Given the description of an element on the screen output the (x, y) to click on. 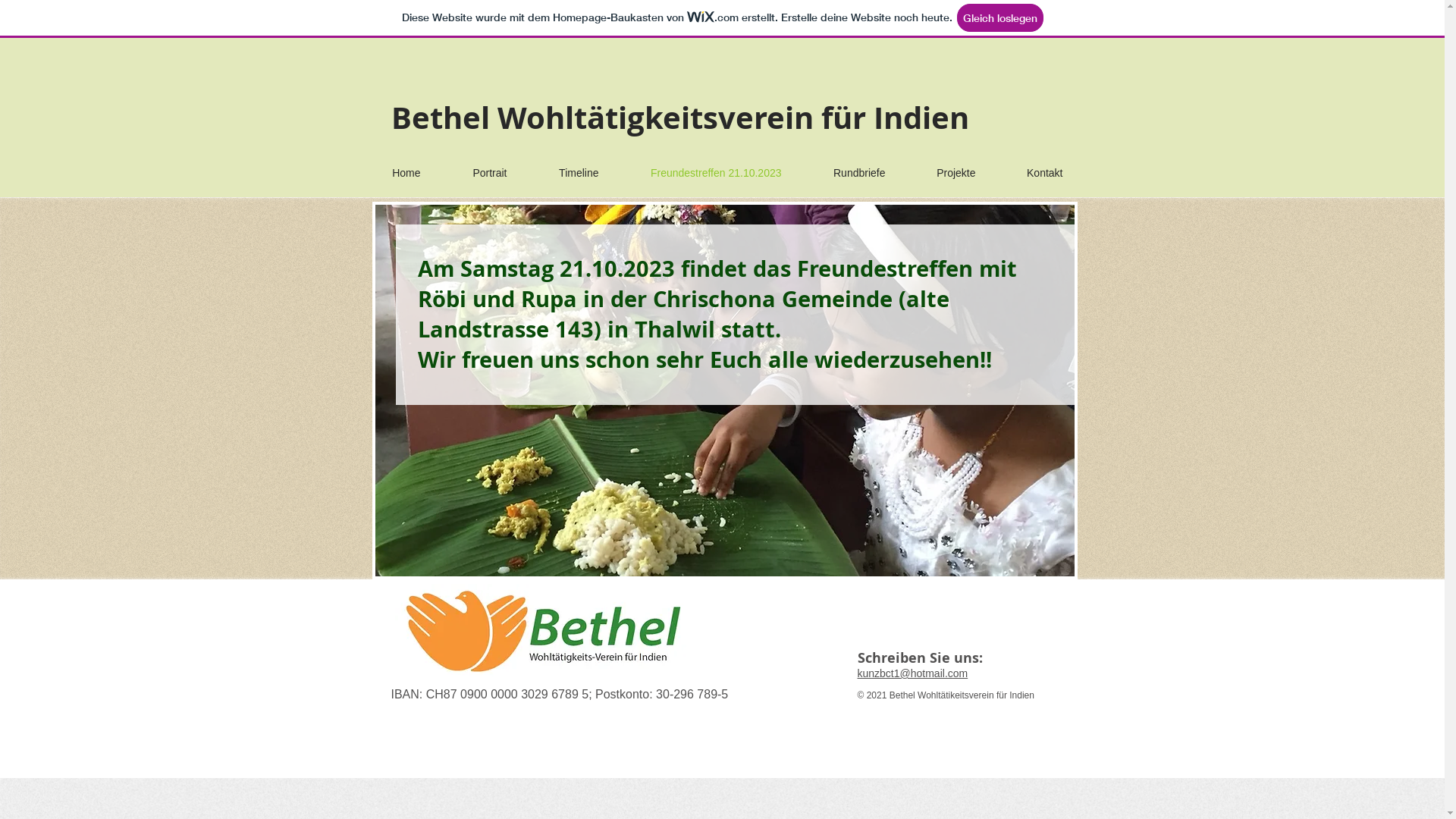
Kontakt Element type: text (1030, 172)
Home Element type: text (391, 172)
Freundestreffen 21.10.2023 Element type: text (700, 172)
Projekte Element type: text (941, 172)
IMG_1227.JPG Element type: hover (723, 390)
Rundbriefe Element type: text (845, 172)
kunzbct1@hotmail.com Element type: text (911, 673)
Portrait Element type: text (475, 172)
Timeline Element type: text (564, 172)
